Given the description of an element on the screen output the (x, y) to click on. 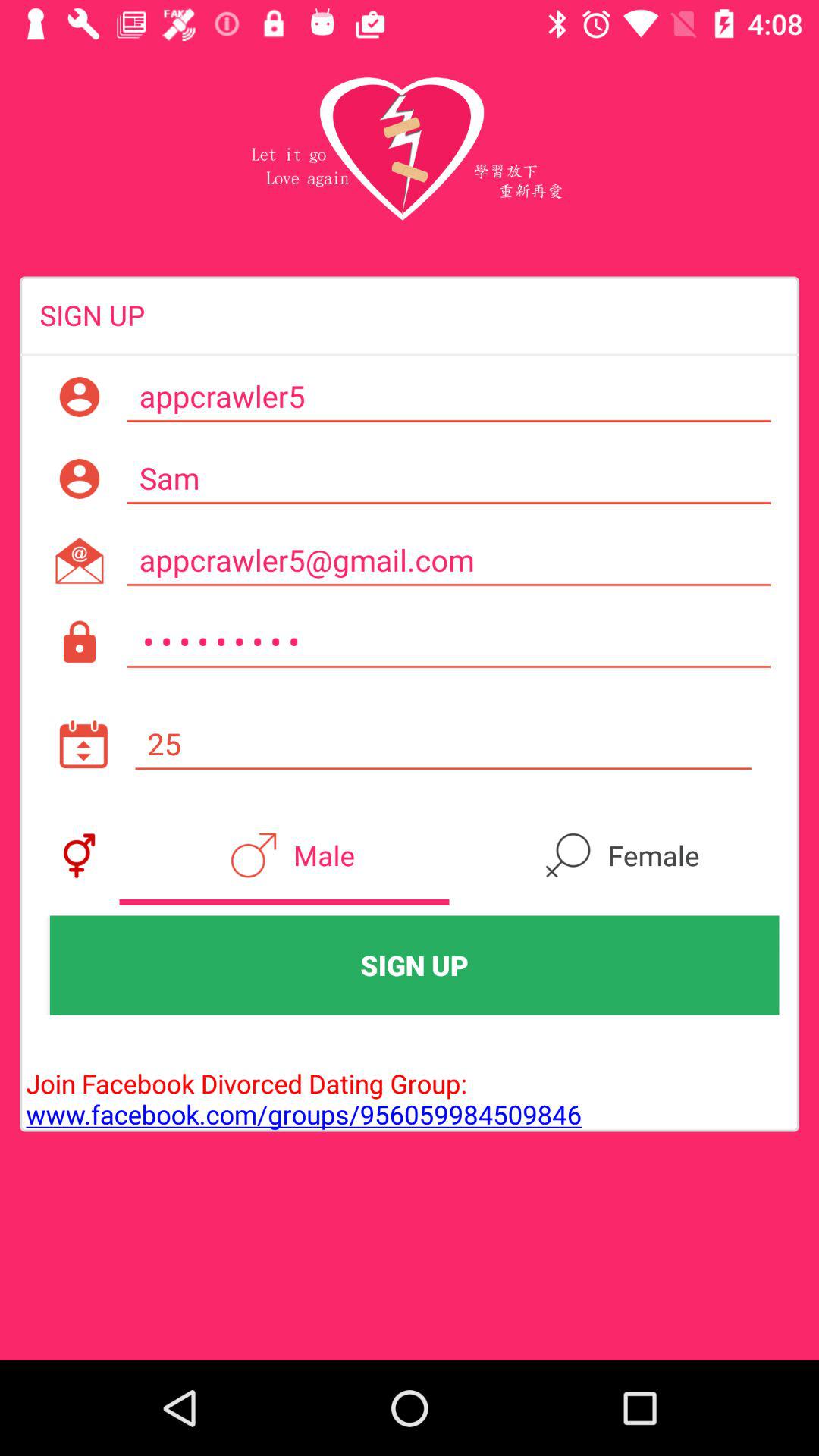
flip until appcrawler5@gmail.com item (449, 560)
